Given the description of an element on the screen output the (x, y) to click on. 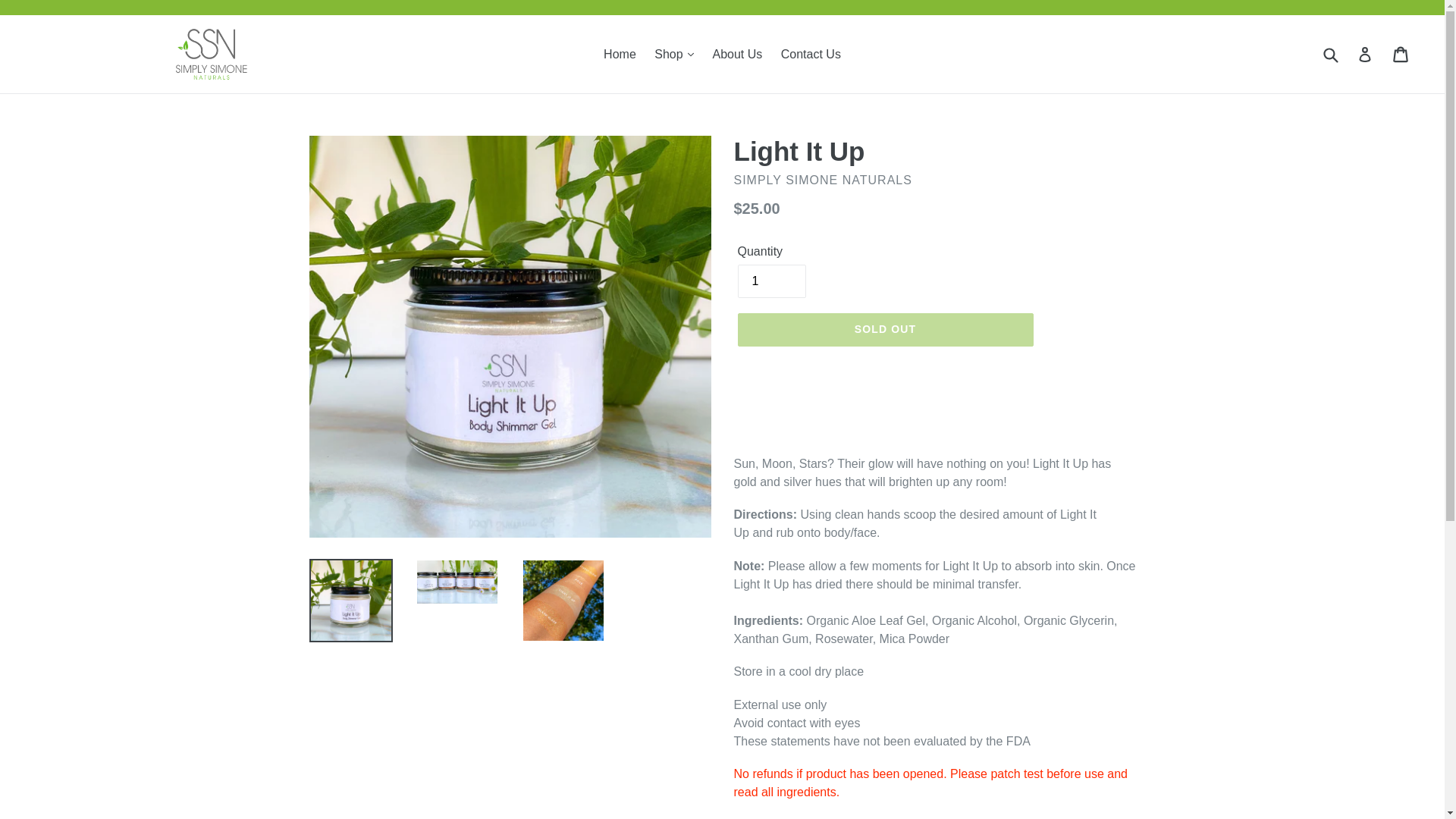
1 (770, 281)
Home (619, 53)
About Us (737, 53)
Contact Us (810, 53)
